Given the description of an element on the screen output the (x, y) to click on. 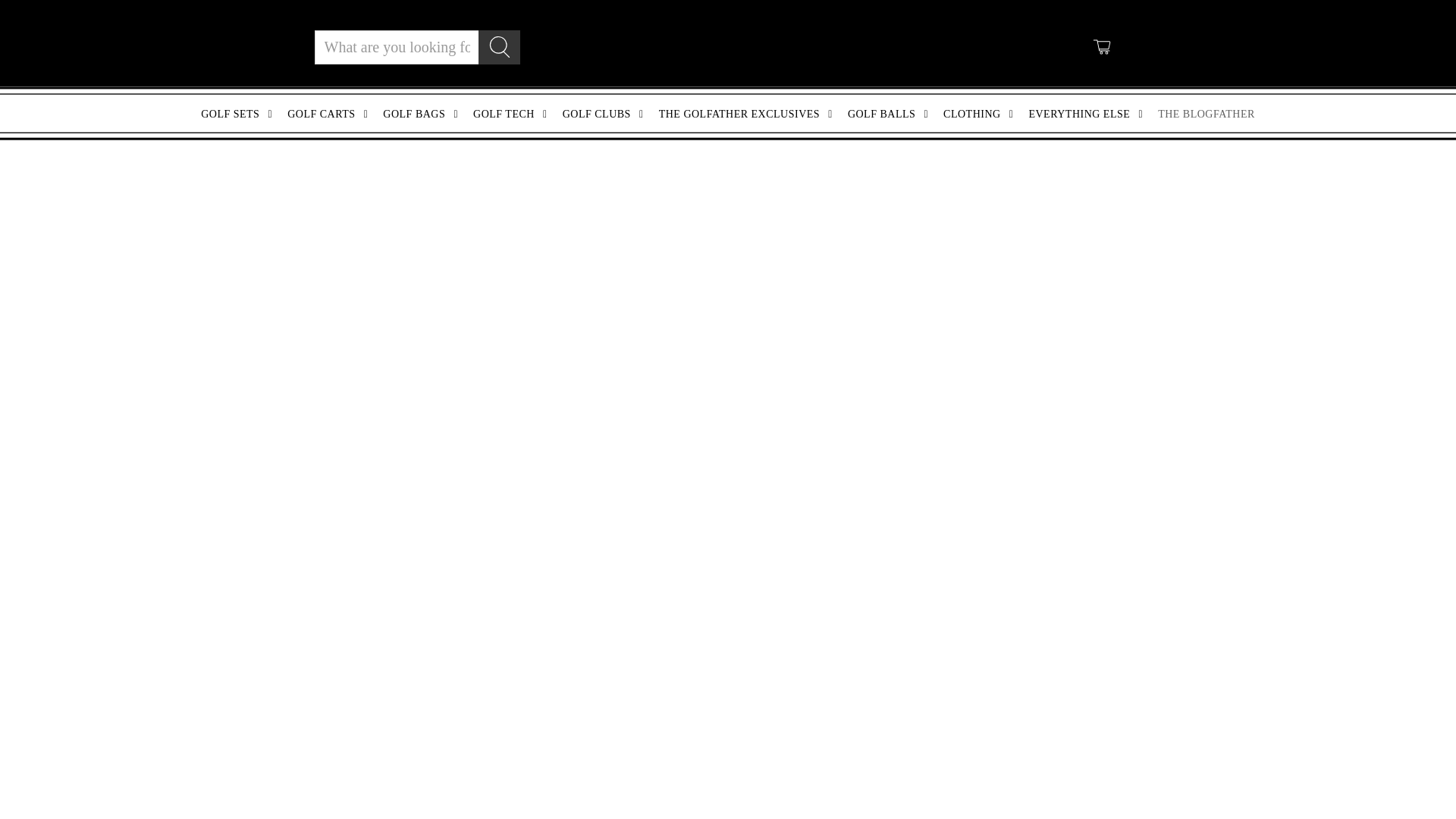
The Golfather Ltd. (727, 46)
GOLF SETS (239, 113)
GOLF CLUBS (605, 113)
THE GOLFATHER EXCLUSIVES (748, 113)
GOLF TECH (512, 113)
GOLF BAGS (423, 113)
GOLF CARTS (330, 113)
